Given the description of an element on the screen output the (x, y) to click on. 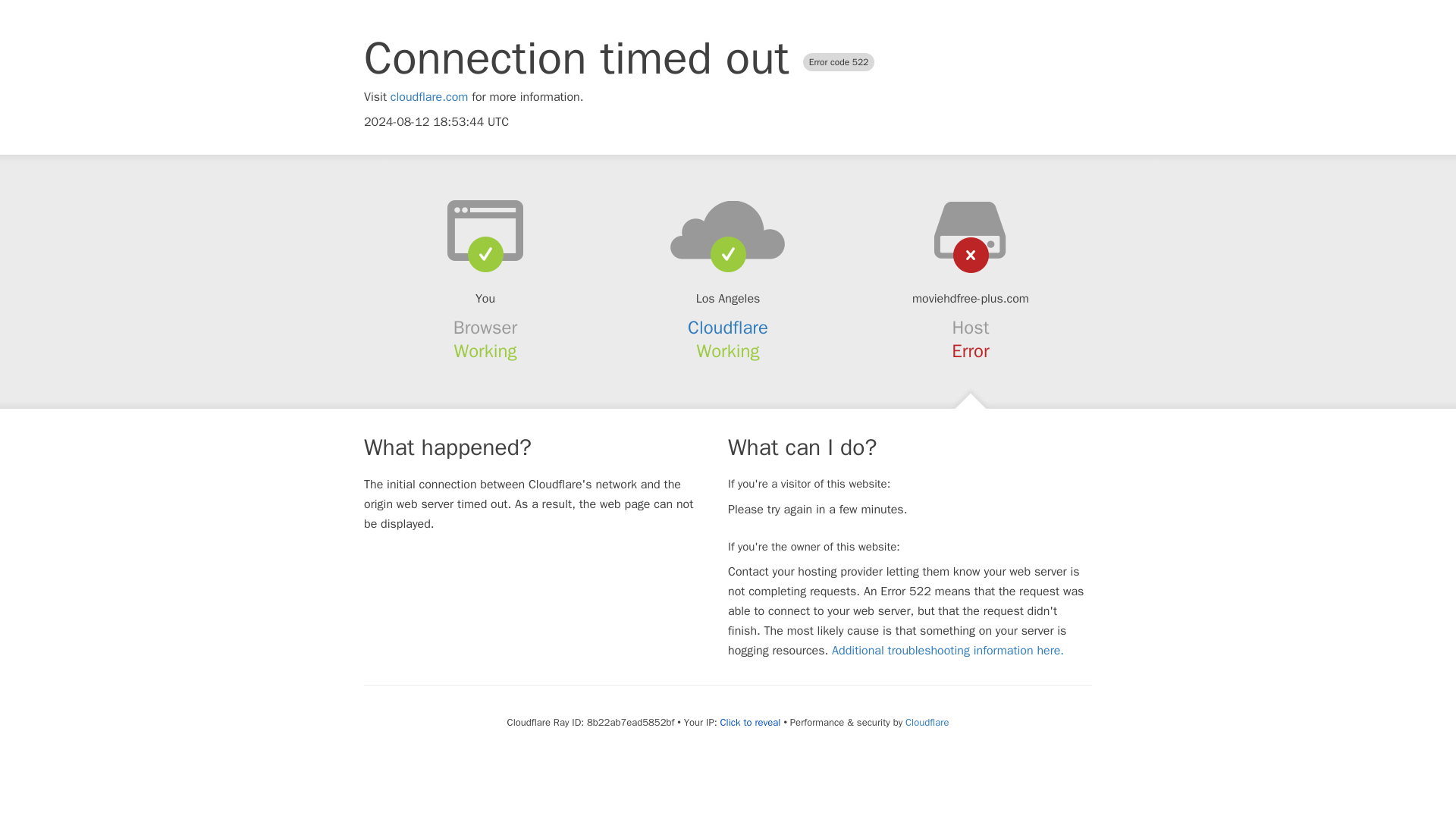
cloudflare.com (429, 96)
Click to reveal (750, 722)
Additional troubleshooting information here. (947, 650)
Cloudflare (927, 721)
Cloudflare (727, 327)
